Given the description of an element on the screen output the (x, y) to click on. 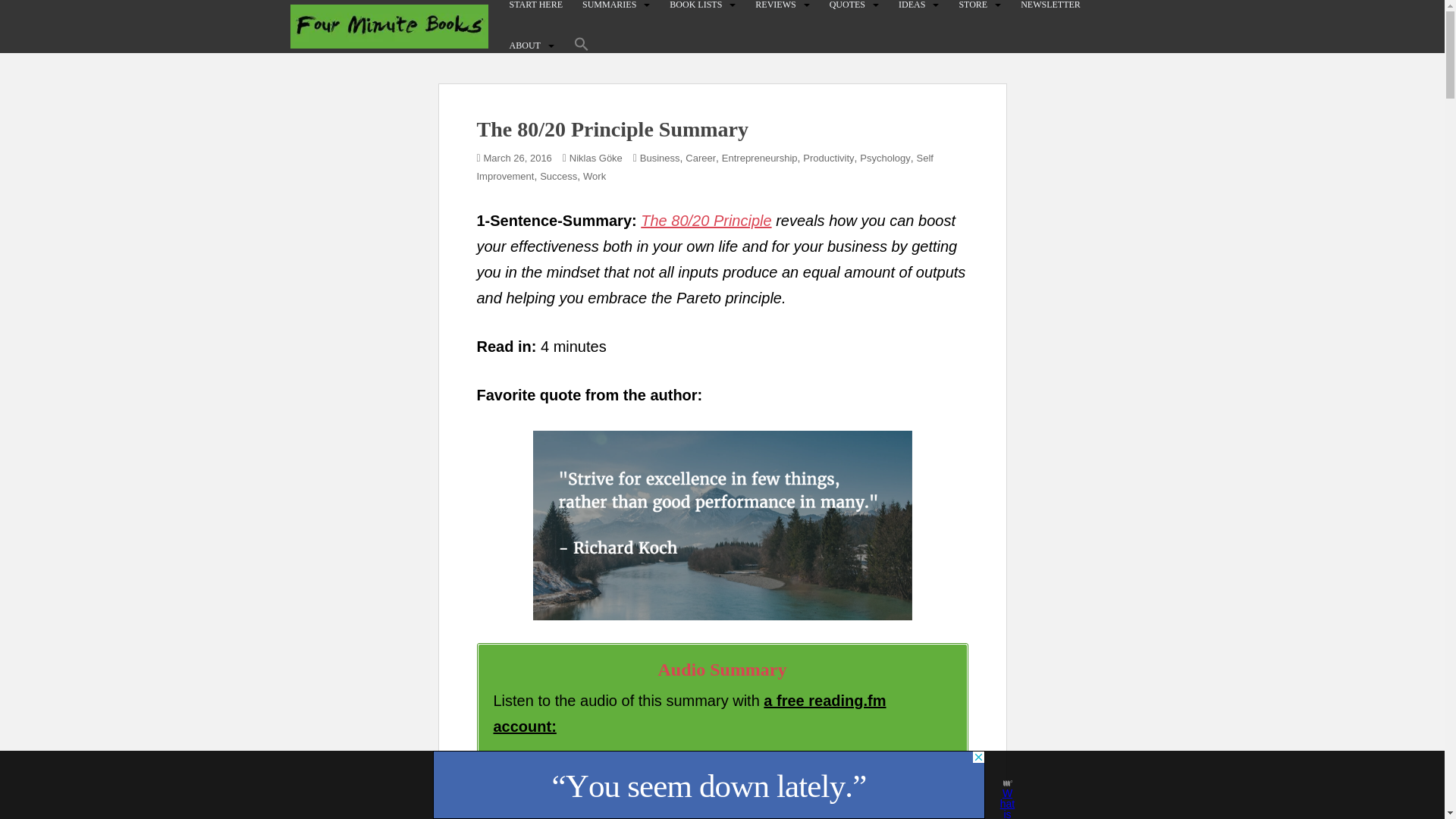
3rd party ad content (708, 785)
BOOK LISTS (695, 4)
START HERE (535, 4)
SUMMARIES (609, 4)
